Given the description of an element on the screen output the (x, y) to click on. 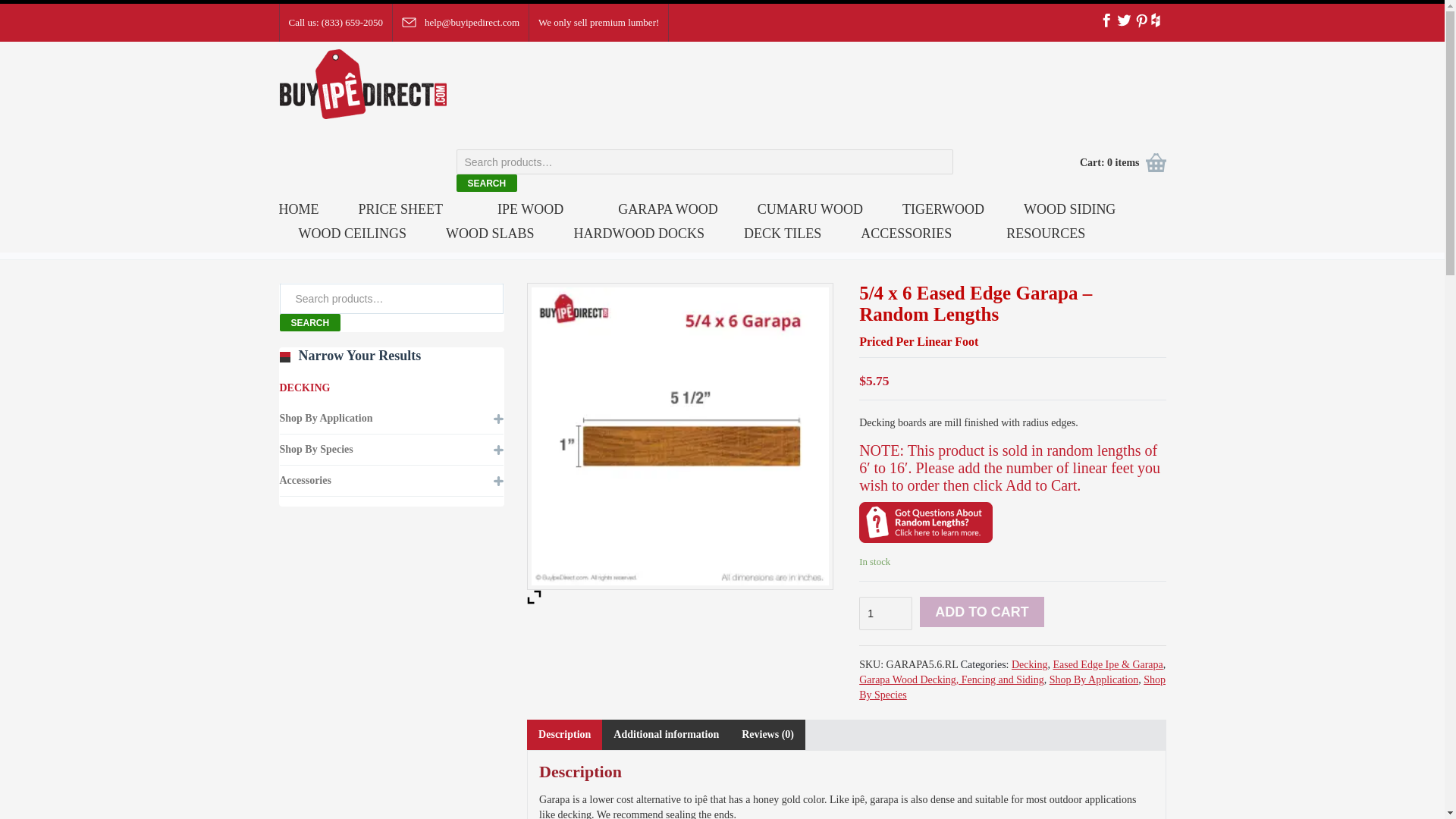
IPE WOOD (529, 215)
DECK TILES (782, 240)
ACCESSORIES (906, 240)
Accessories (906, 240)
PRICE SHEET (400, 215)
GARAPA5.61 (679, 435)
Resources (1045, 240)
WOOD CEILINGS (352, 240)
Qty (885, 613)
GARAPA WOOD (667, 215)
h (1158, 20)
Cart: 0 items (1115, 162)
CUMARU WOOD (810, 215)
P (1140, 20)
1 (885, 613)
